Given the description of an element on the screen output the (x, y) to click on. 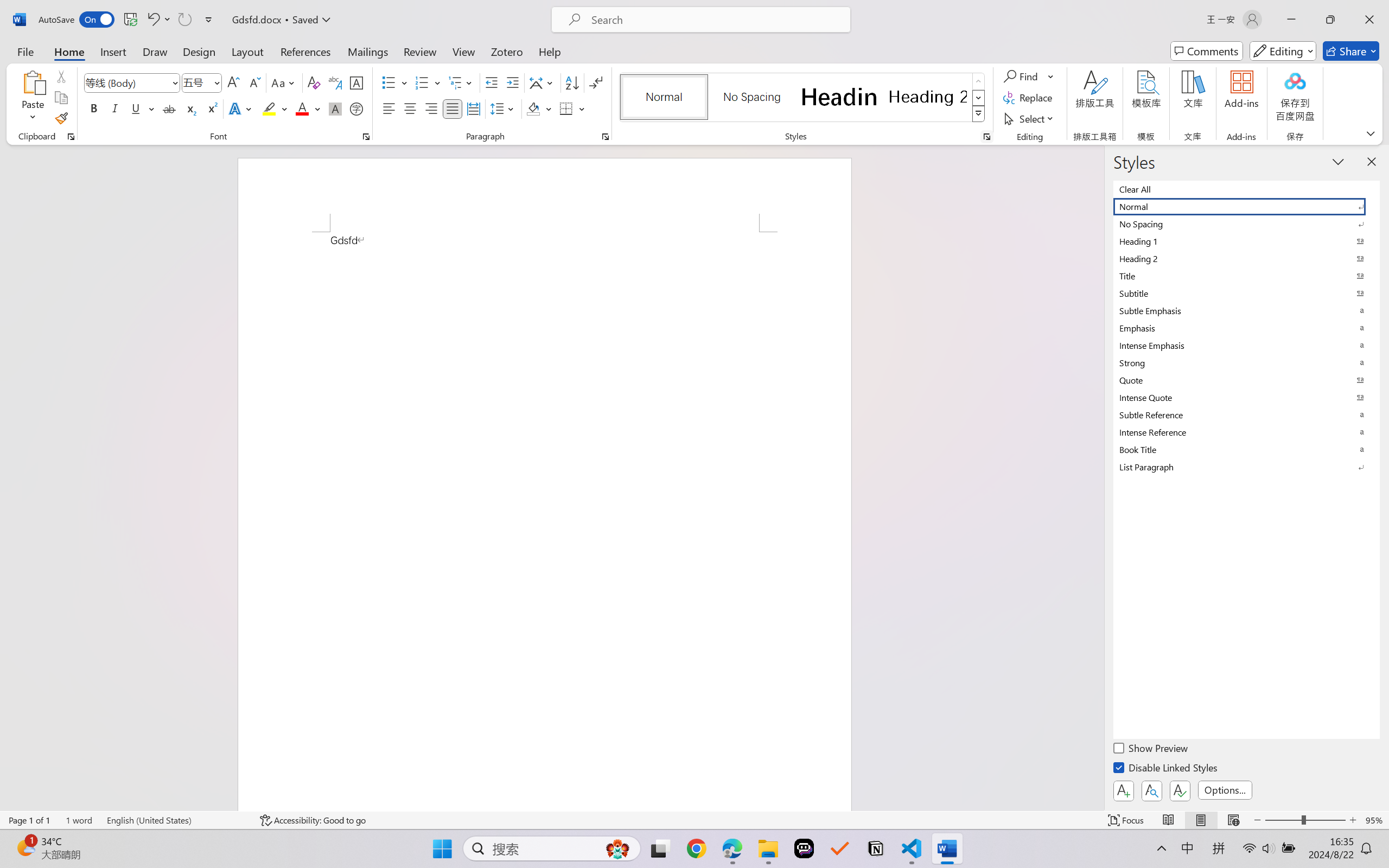
Intense Quote (1246, 397)
Can't Repeat (184, 19)
Text Highlight Color Yellow (269, 108)
Text Highlight Color (274, 108)
Bold (94, 108)
Font Color (308, 108)
Multilevel List (461, 82)
Show Preview (1151, 749)
